Given the description of an element on the screen output the (x, y) to click on. 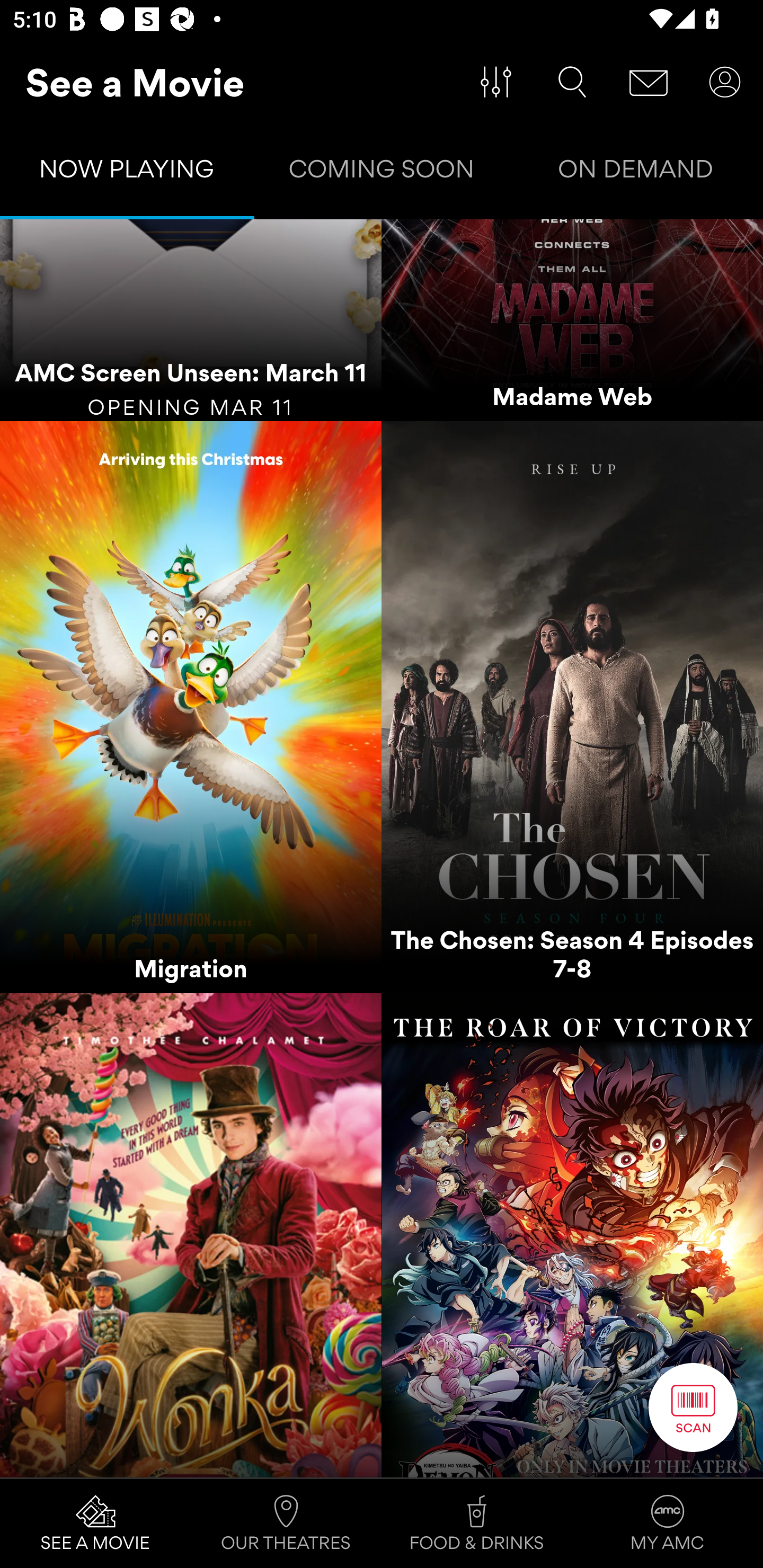
Filter Movies (495, 82)
Search (572, 82)
Message Center (648, 82)
User Account (724, 82)
NOW PLAYING
Tab 1 of 3 (127, 173)
COMING SOON
Tab 2 of 3 (381, 173)
ON DEMAND
Tab 3 of 3 (635, 173)
AMC Screen Unseen: March 11
OPENING MAR 11 (190, 320)
Madame Web (572, 320)
Migration (190, 706)
The Chosen: Season 4 Episodes 7-8 (572, 706)
Wonka (190, 1234)
Scan Button (692, 1406)
SEE A MOVIE
Tab 1 of 4 (95, 1523)
OUR THEATRES
Tab 2 of 4 (285, 1523)
FOOD & DRINKS
Tab 3 of 4 (476, 1523)
MY AMC
Tab 4 of 4 (667, 1523)
